Given the description of an element on the screen output the (x, y) to click on. 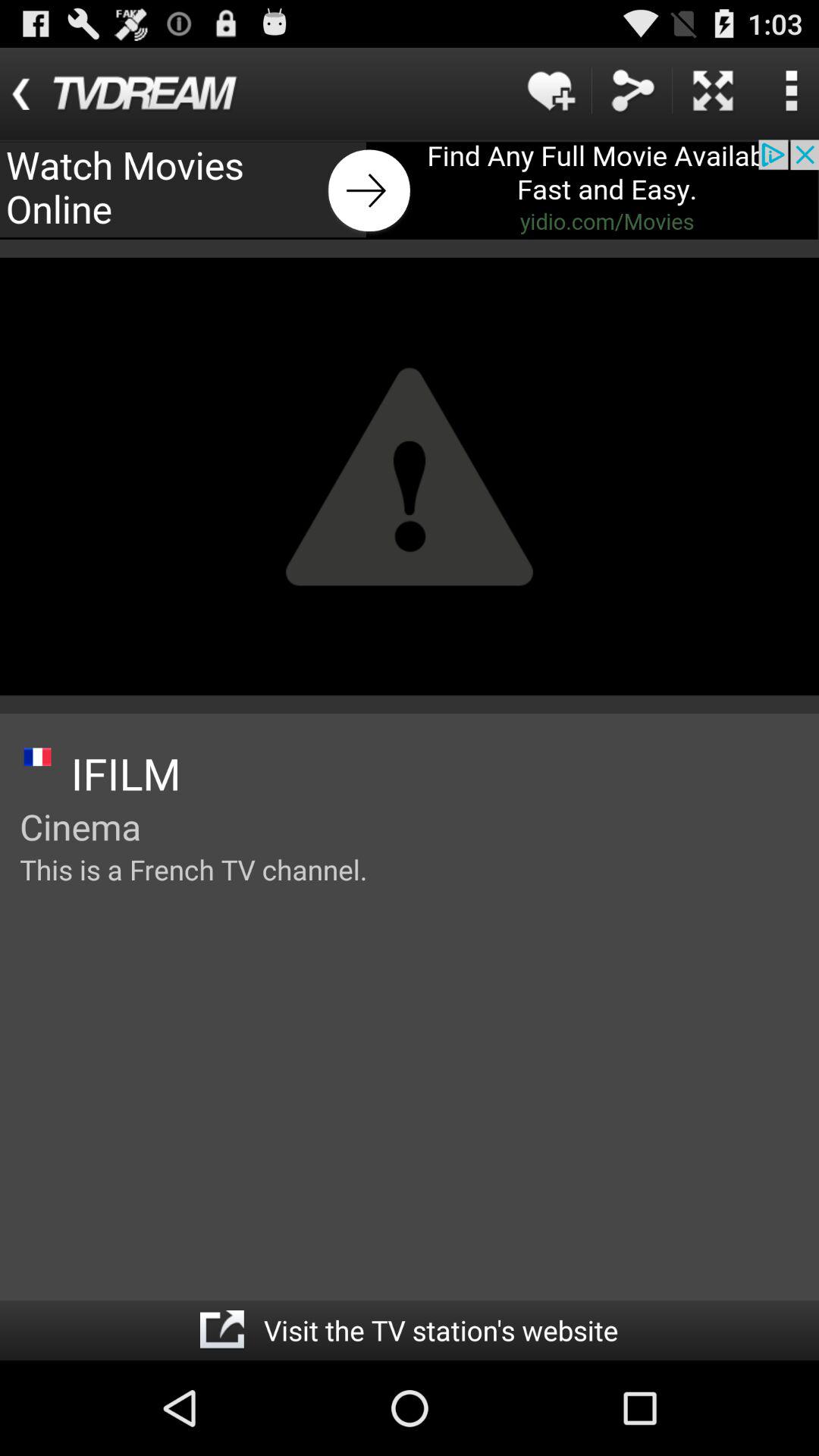
share (632, 90)
